Given the description of an element on the screen output the (x, y) to click on. 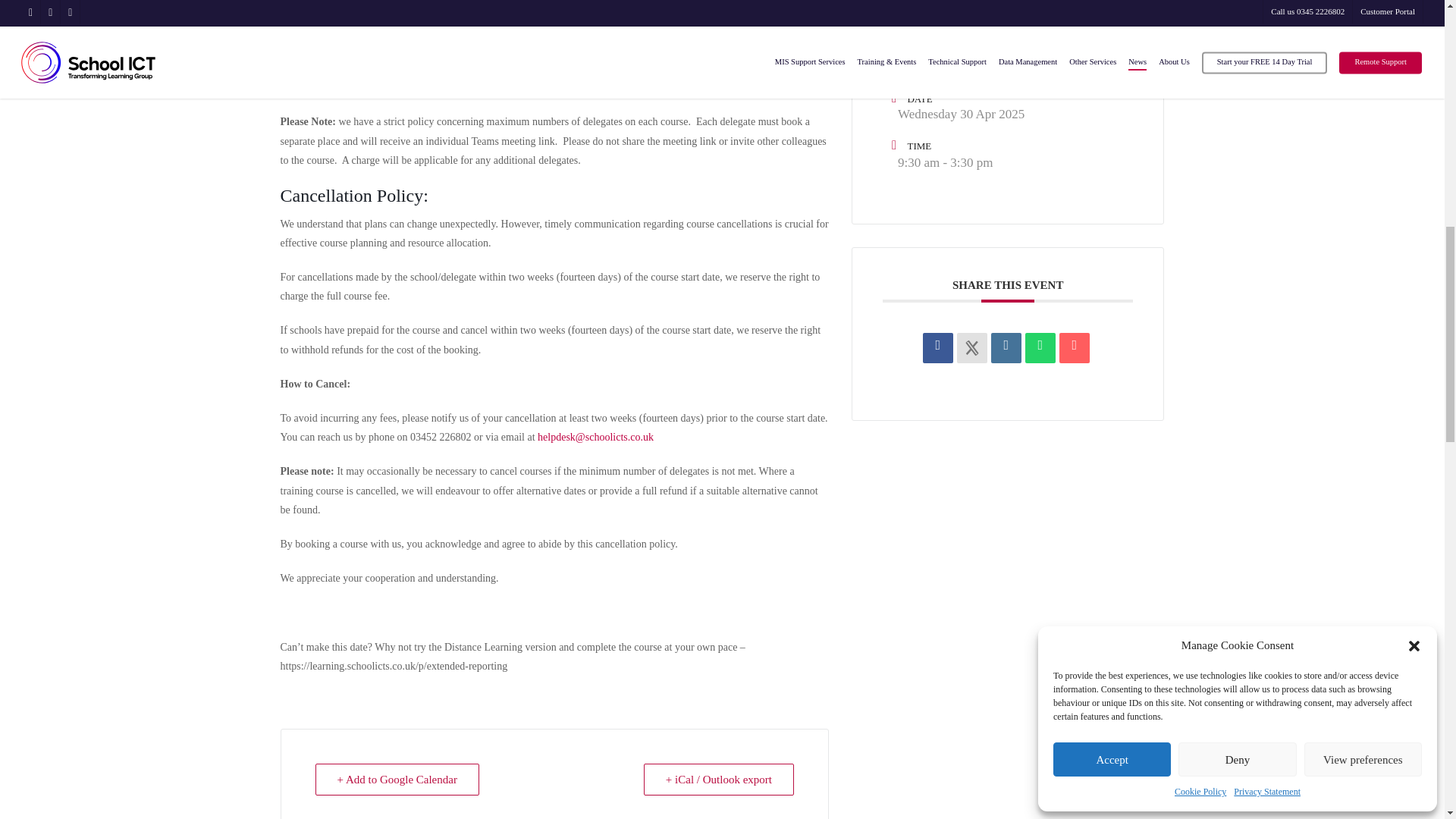
Share on WhatsApp (1040, 347)
Linkedin (1006, 347)
X Social Network (971, 347)
Share on Facebook (938, 347)
Email (1074, 347)
